Given the description of an element on the screen output the (x, y) to click on. 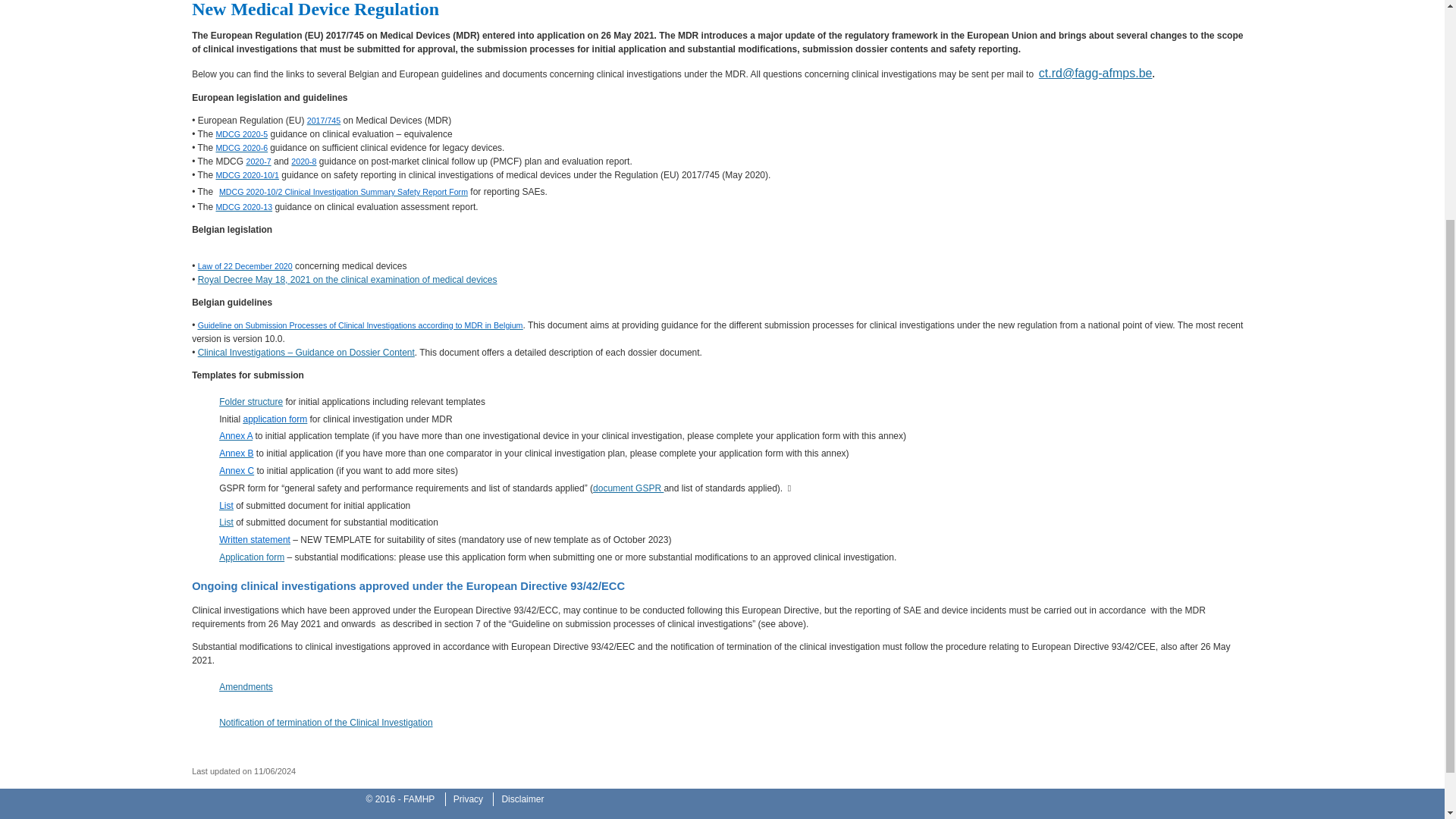
2020-7 (258, 161)
Folder structure (250, 401)
Annex A (235, 435)
Law of 22 December 2020 (245, 266)
application form (275, 419)
2020-8 (303, 161)
MDCG 2020-5 (241, 133)
Disclaimer (521, 798)
MDCG 2020-13 (243, 206)
MDCG 2020-6 (241, 147)
